Given the description of an element on the screen output the (x, y) to click on. 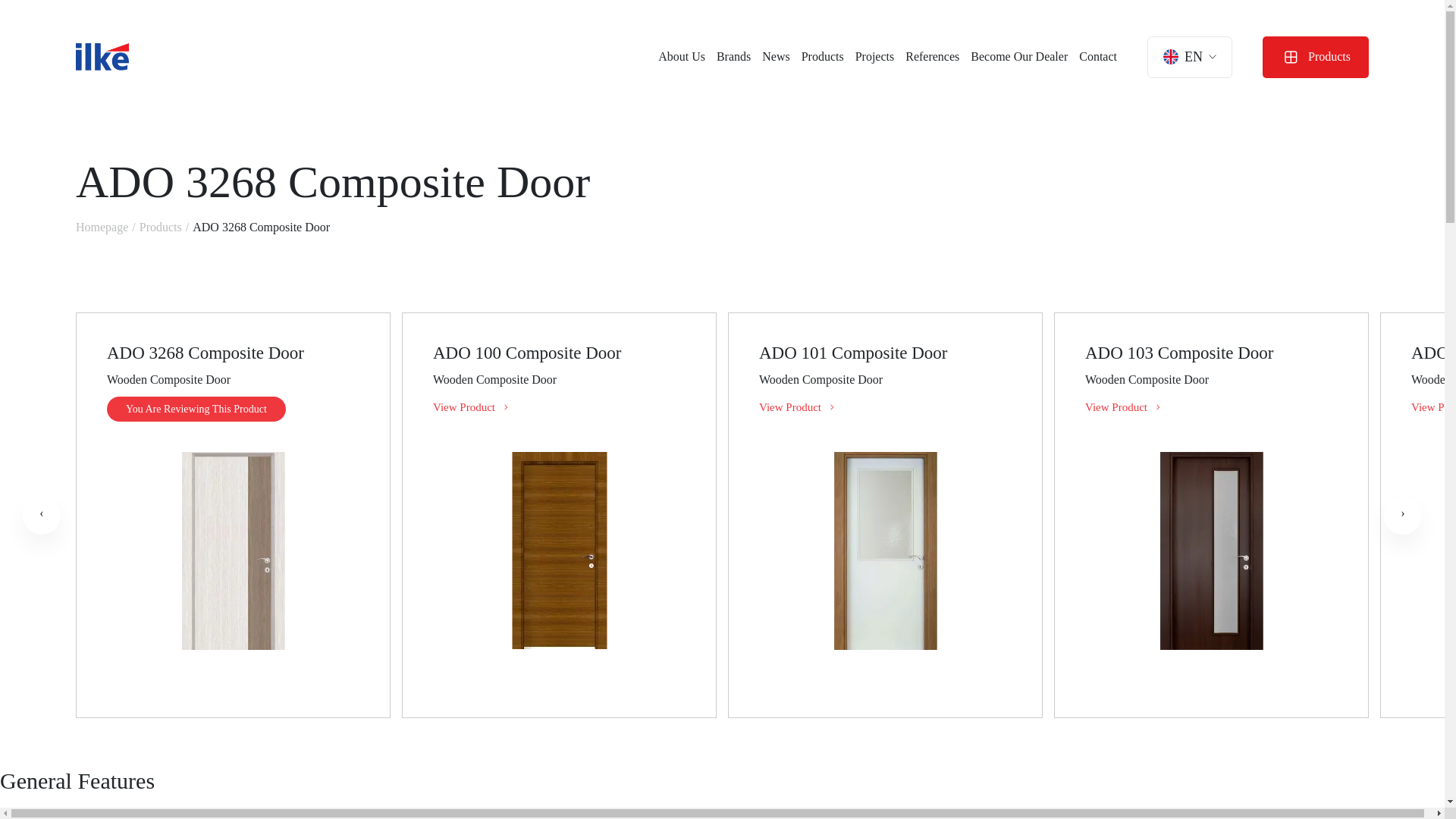
References (932, 56)
Brands (733, 56)
About Us (681, 56)
Contact (1097, 56)
Become Our Dealer (1019, 56)
Projects (875, 56)
Products (823, 56)
News (775, 56)
